Given the description of an element on the screen output the (x, y) to click on. 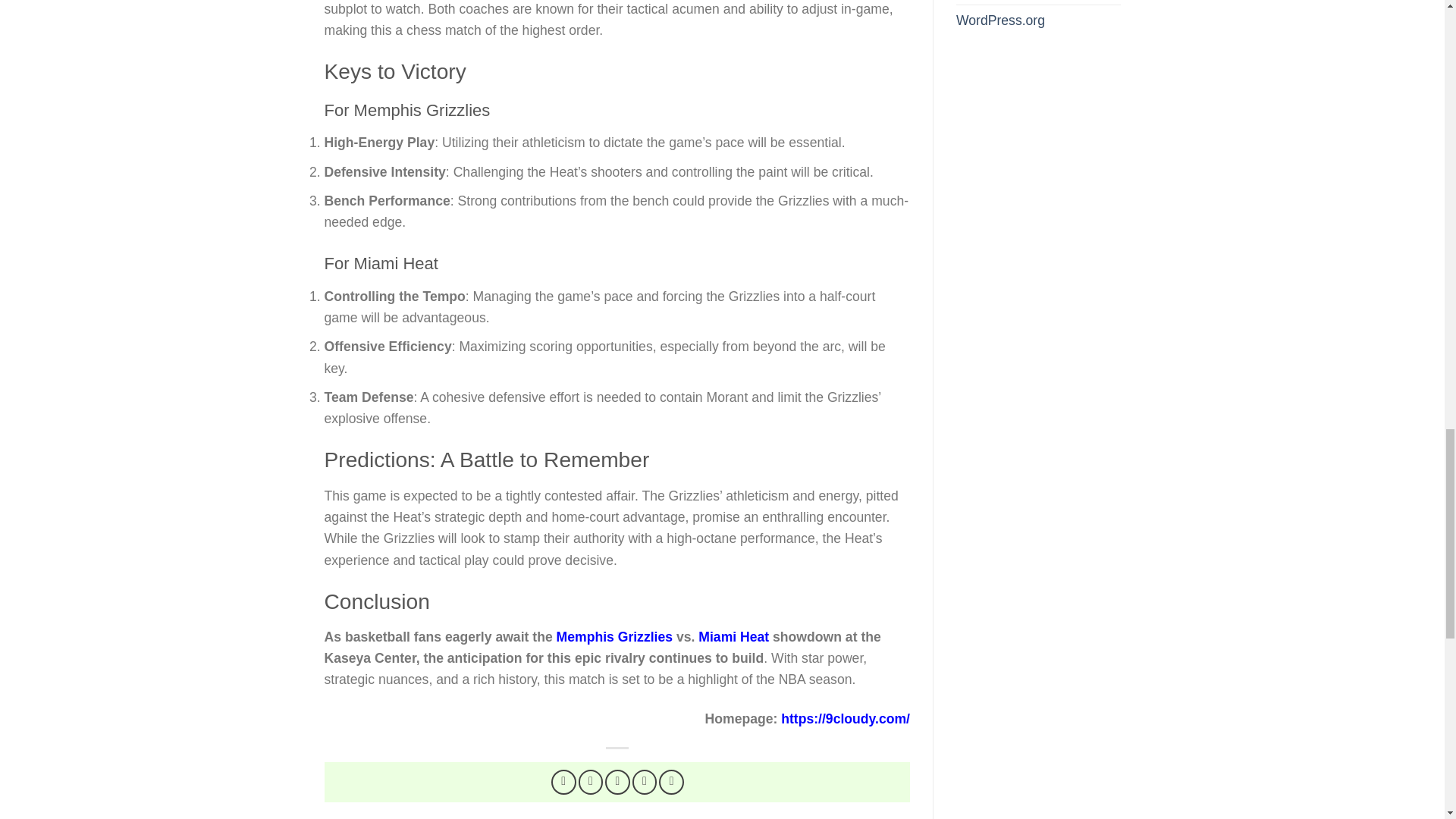
Email to a Friend (617, 781)
Pin on Pinterest (644, 781)
Share on Facebook (563, 781)
Memphis Grizzlies (614, 636)
Share on Twitter (591, 781)
Share on LinkedIn (671, 781)
Miami Heat (733, 636)
